Given the description of an element on the screen output the (x, y) to click on. 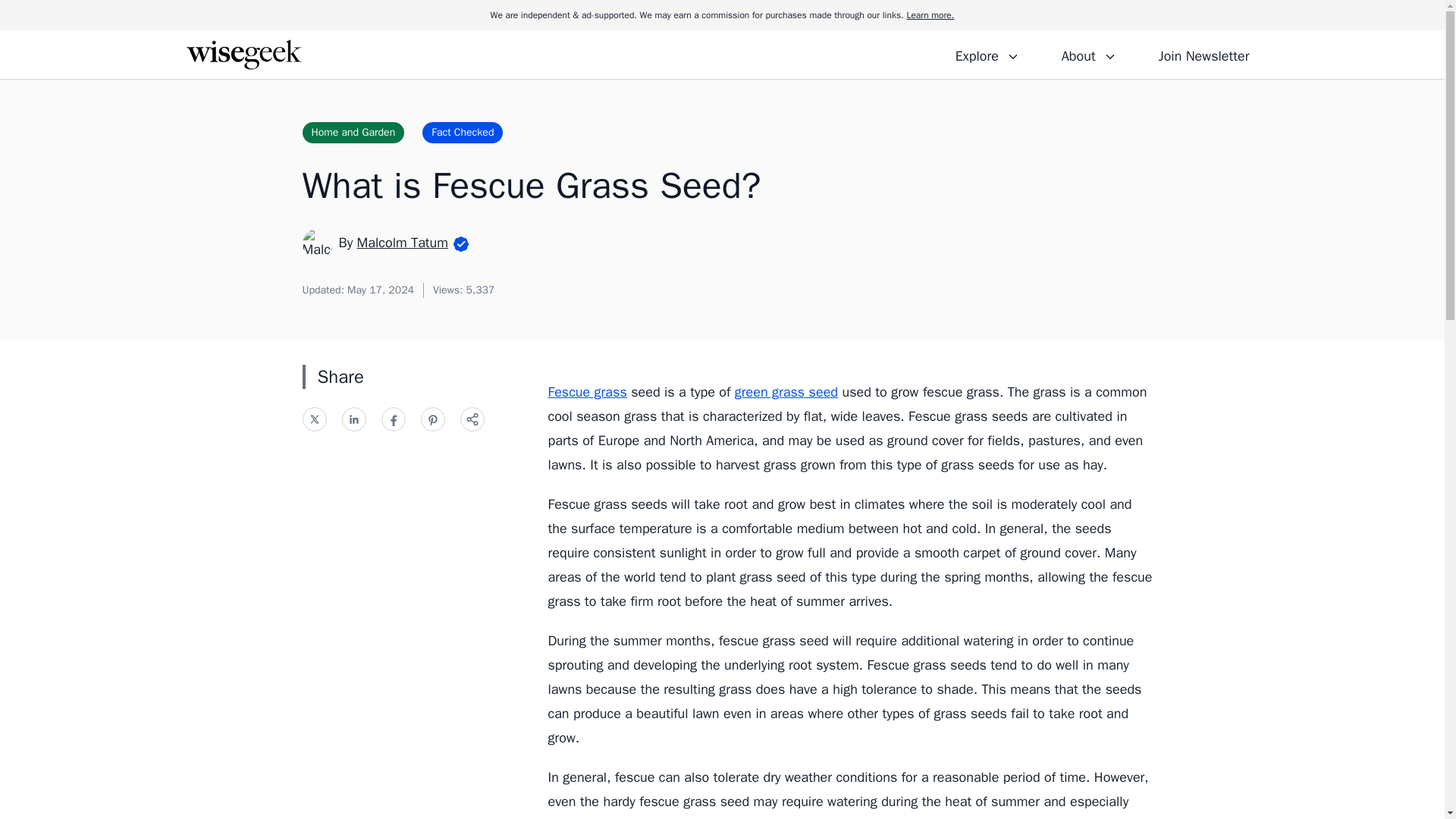
About (1088, 54)
Fescue grass (586, 392)
Join Newsletter (1202, 54)
Home and Garden (352, 132)
Fact Checked (462, 132)
Explore (986, 54)
Malcolm Tatum (402, 242)
Learn more. (929, 15)
green grass seed (786, 392)
